Given the description of an element on the screen output the (x, y) to click on. 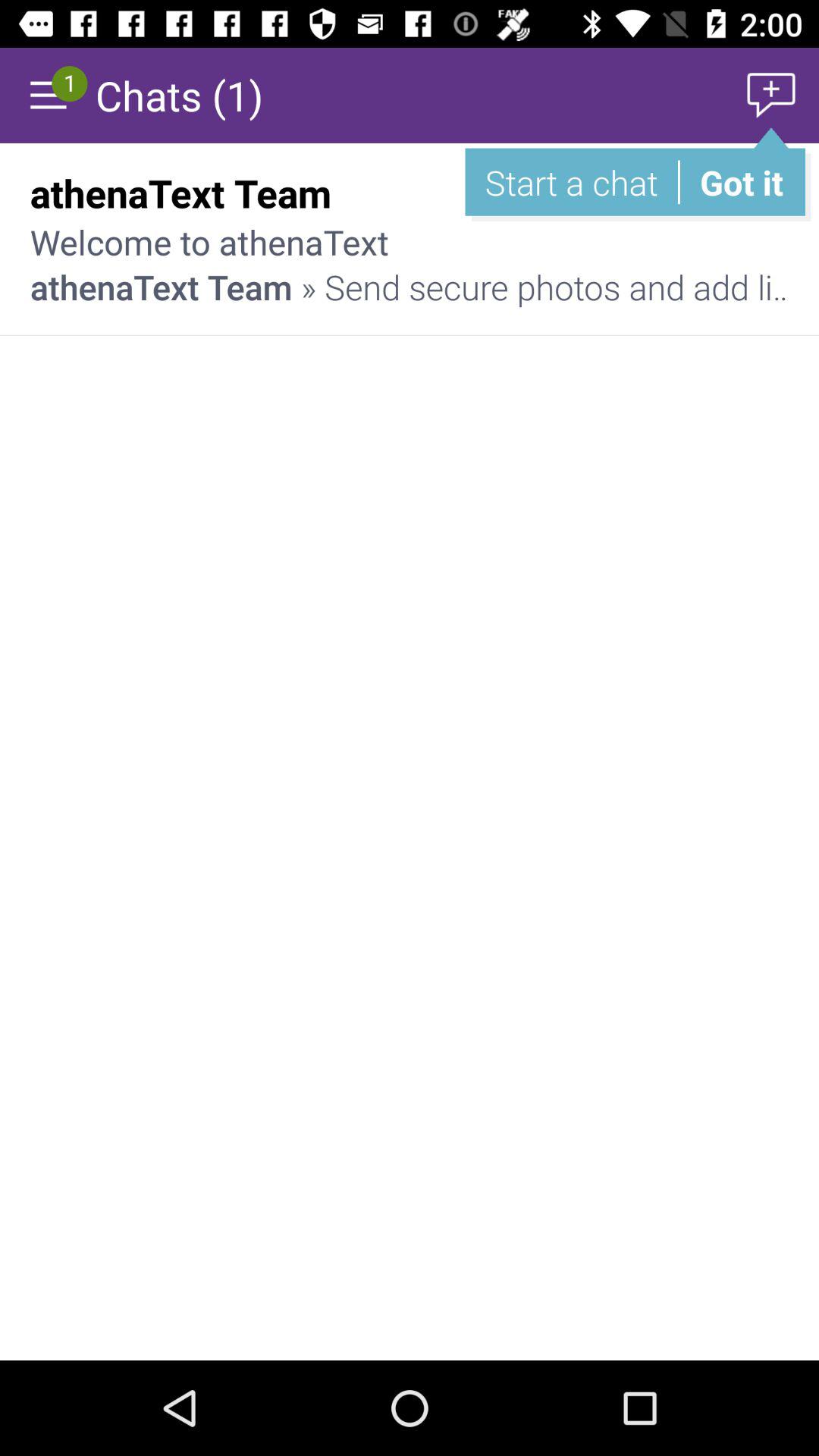
open item above the athenatext team send (735, 192)
